Given the description of an element on the screen output the (x, y) to click on. 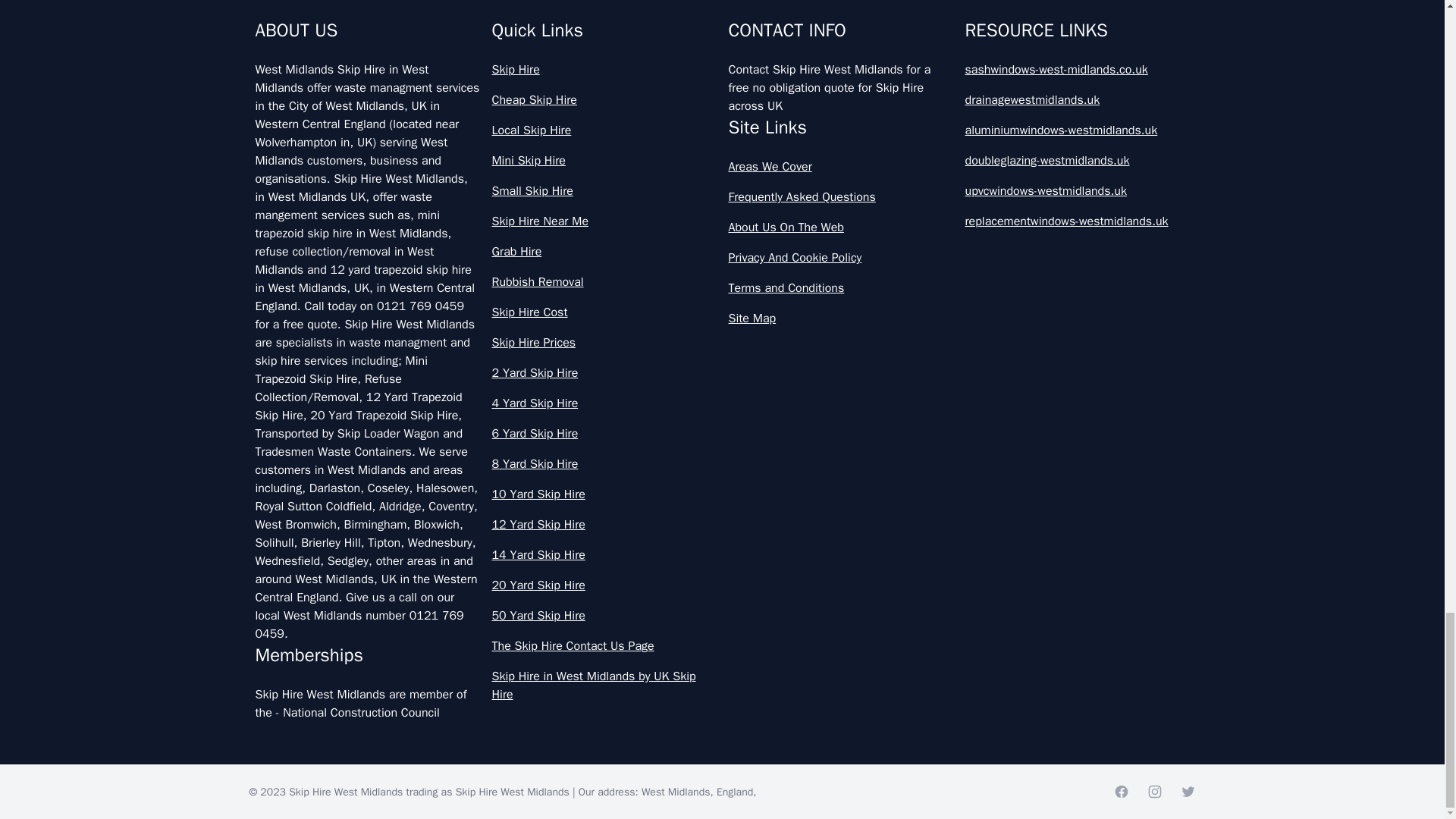
National Construction Council (360, 712)
Cheap Skip Hire (604, 99)
Mini Skip Hire (604, 160)
sashwindows-west-midlands.co.uk (1076, 69)
Skip Hire Near Me (604, 221)
Skip Hire in West Midlands by UK Skip Hire (604, 685)
drainagewestmidlands.uk (1076, 99)
replacementwindows-westmidlands.uk (1076, 221)
Small Skip Hire (604, 190)
Skip Hire (604, 69)
